Given the description of an element on the screen output the (x, y) to click on. 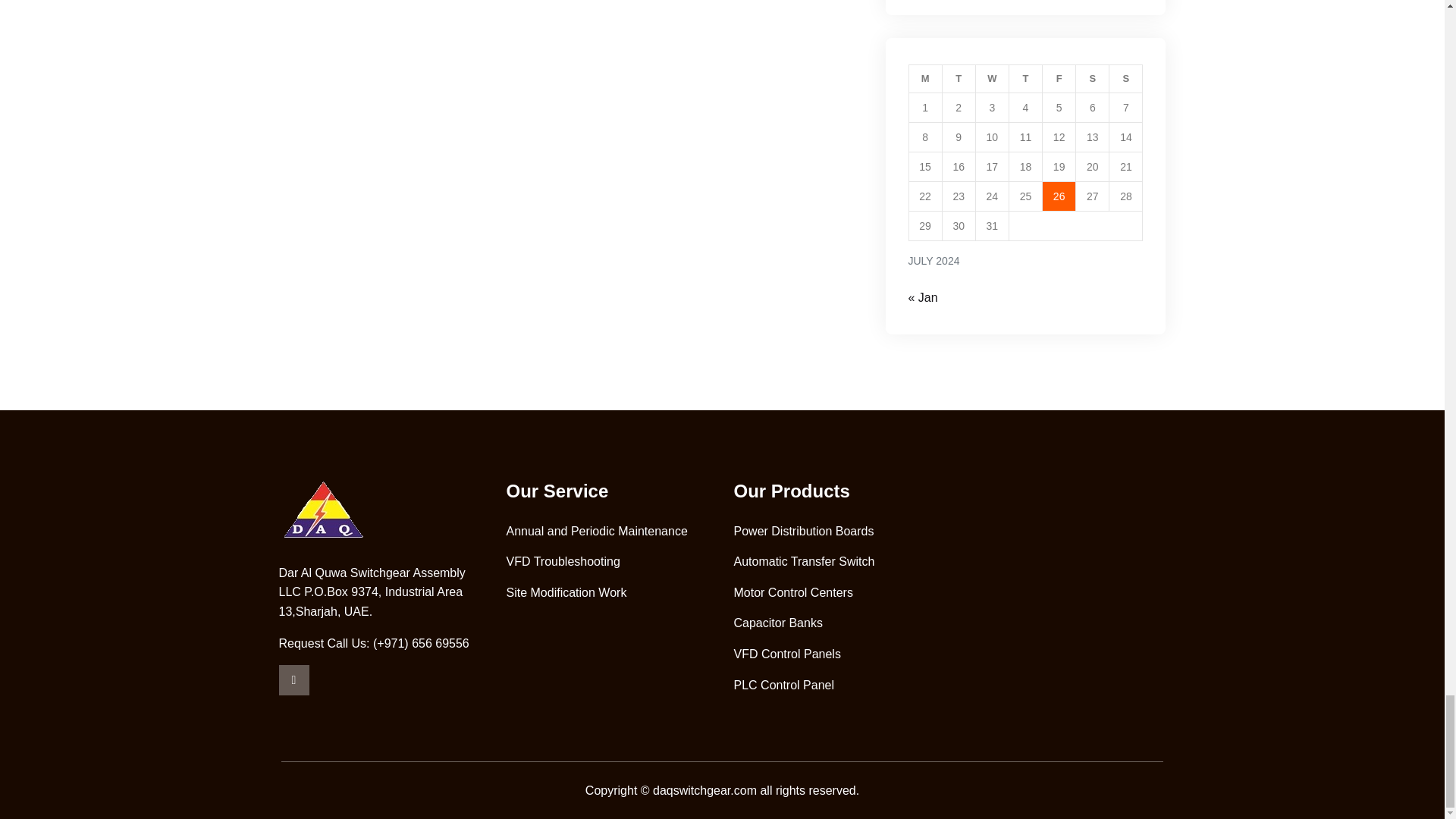
Sunday (1125, 79)
Saturday (1092, 79)
Friday (1058, 79)
Monday (925, 79)
Tuesday (958, 79)
Facebook (293, 680)
Wednesday (992, 79)
Thursday (1025, 79)
